Given the description of an element on the screen output the (x, y) to click on. 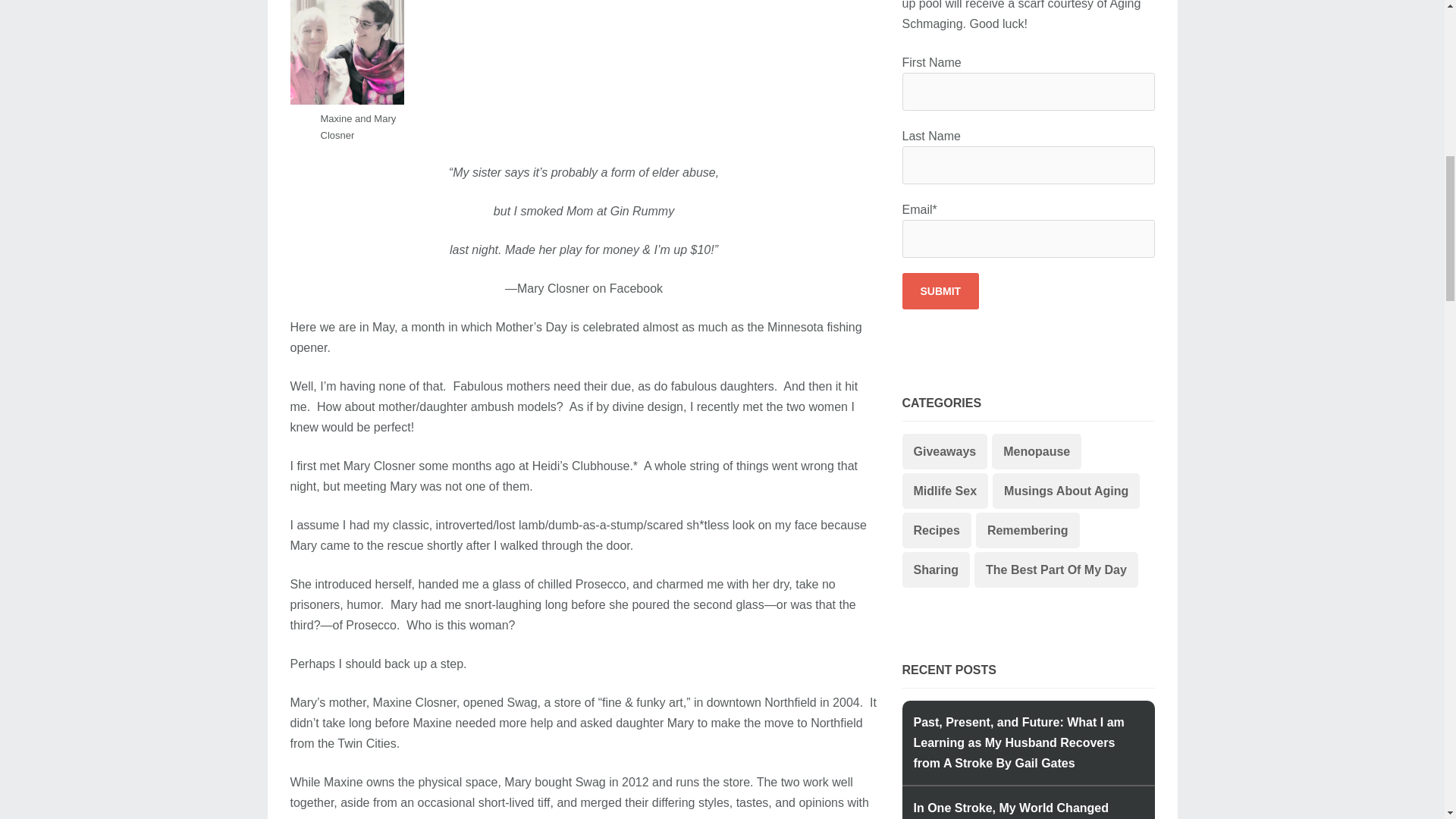
SUBMIT (940, 290)
